Given the description of an element on the screen output the (x, y) to click on. 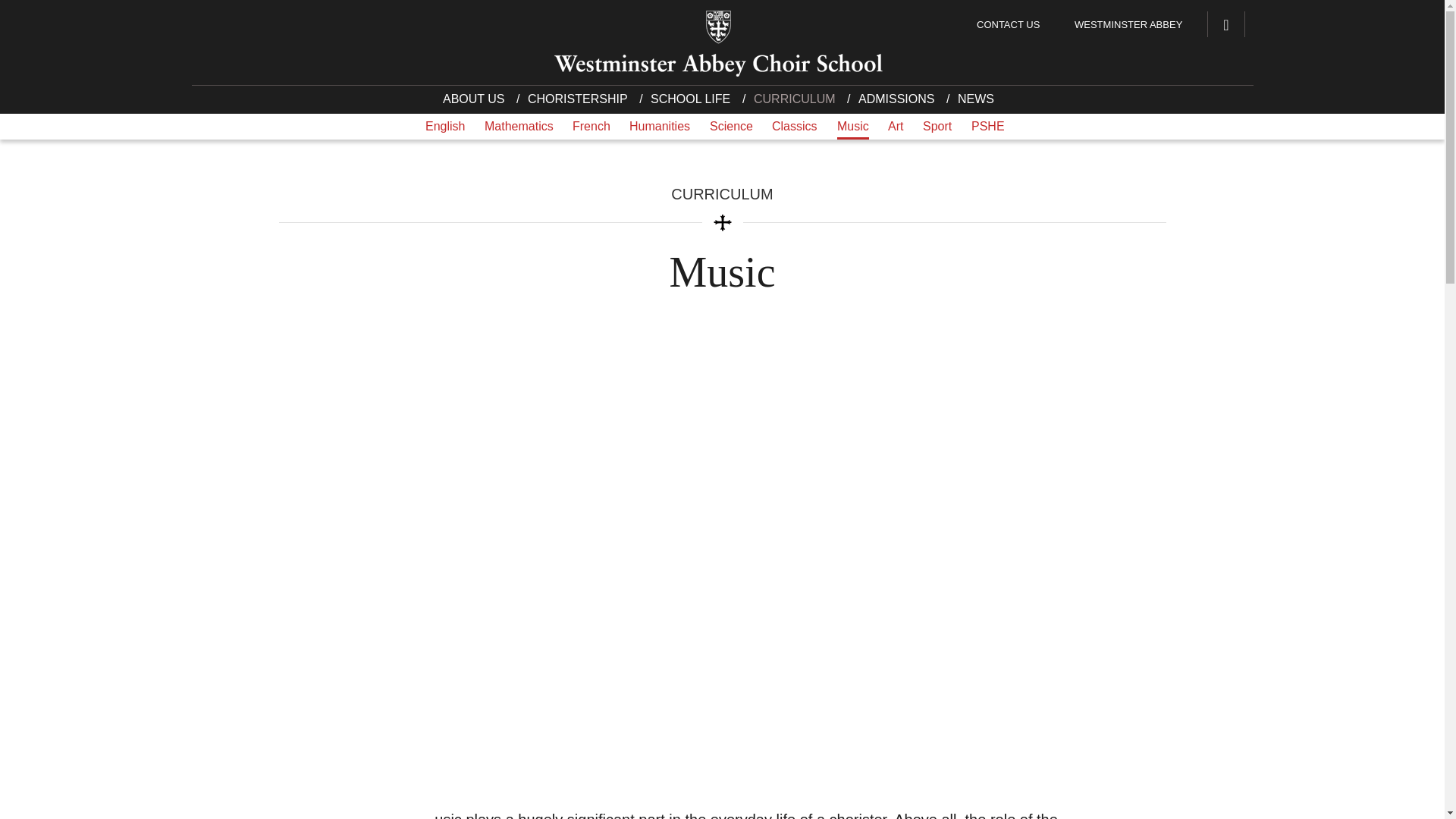
The Boarding Schools' Association (955, 671)
copyright notice (289, 812)
ABOUT US (477, 101)
CURRICULUM (792, 101)
ADMISSIONS (894, 101)
SCHOOL LIFE (688, 101)
telephone number (344, 679)
email address (383, 709)
Pixel to Code (1213, 808)
The Independent Association of Prep Schools (955, 631)
